Given the description of an element on the screen output the (x, y) to click on. 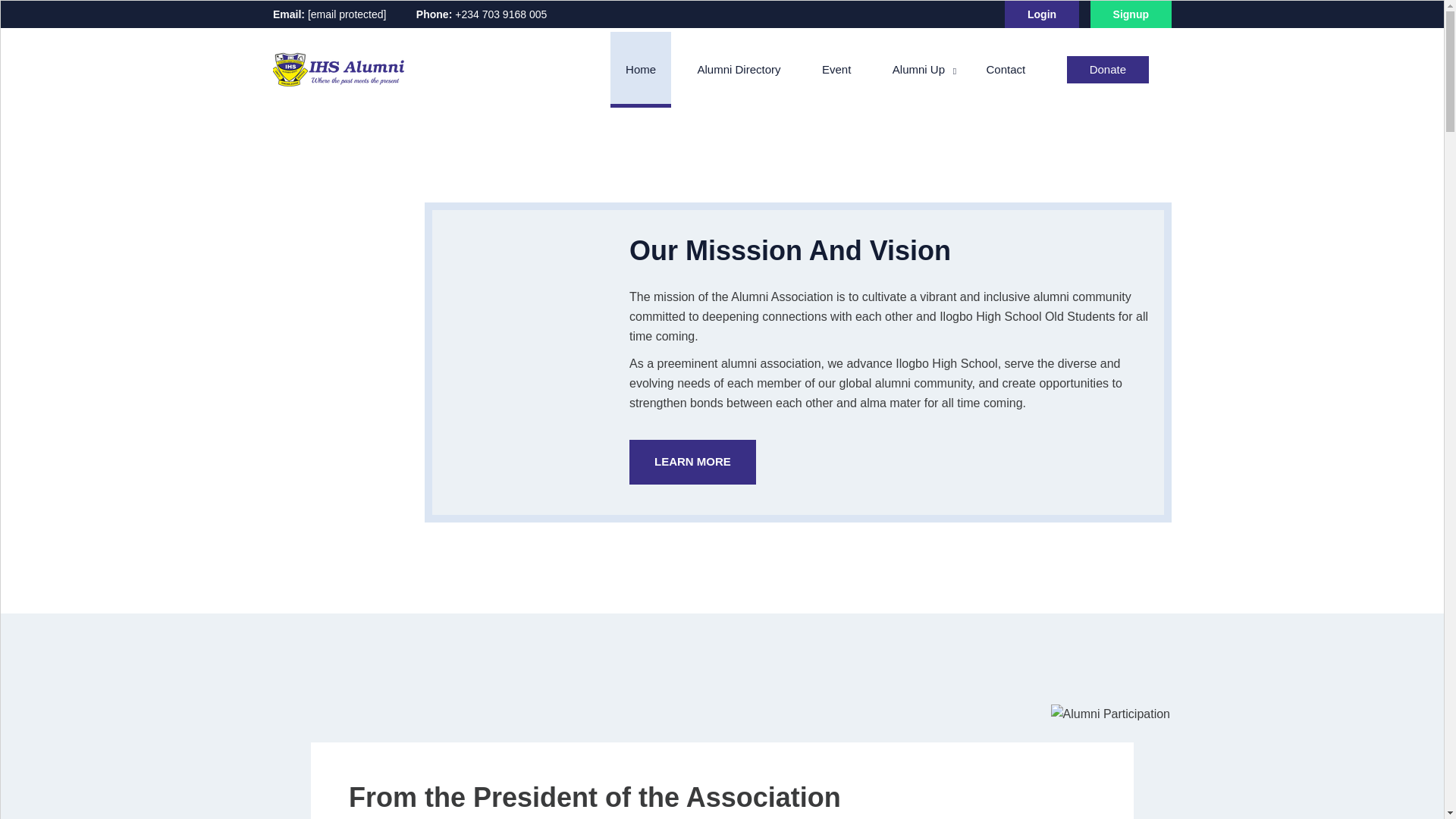
Signup (1131, 13)
Donate (1107, 69)
Signup (1131, 13)
Alumni Directory (738, 69)
Home (641, 69)
Login (1041, 13)
Contact (1005, 69)
LEARN MORE (691, 461)
Event (836, 69)
Donate (1107, 69)
